Given the description of an element on the screen output the (x, y) to click on. 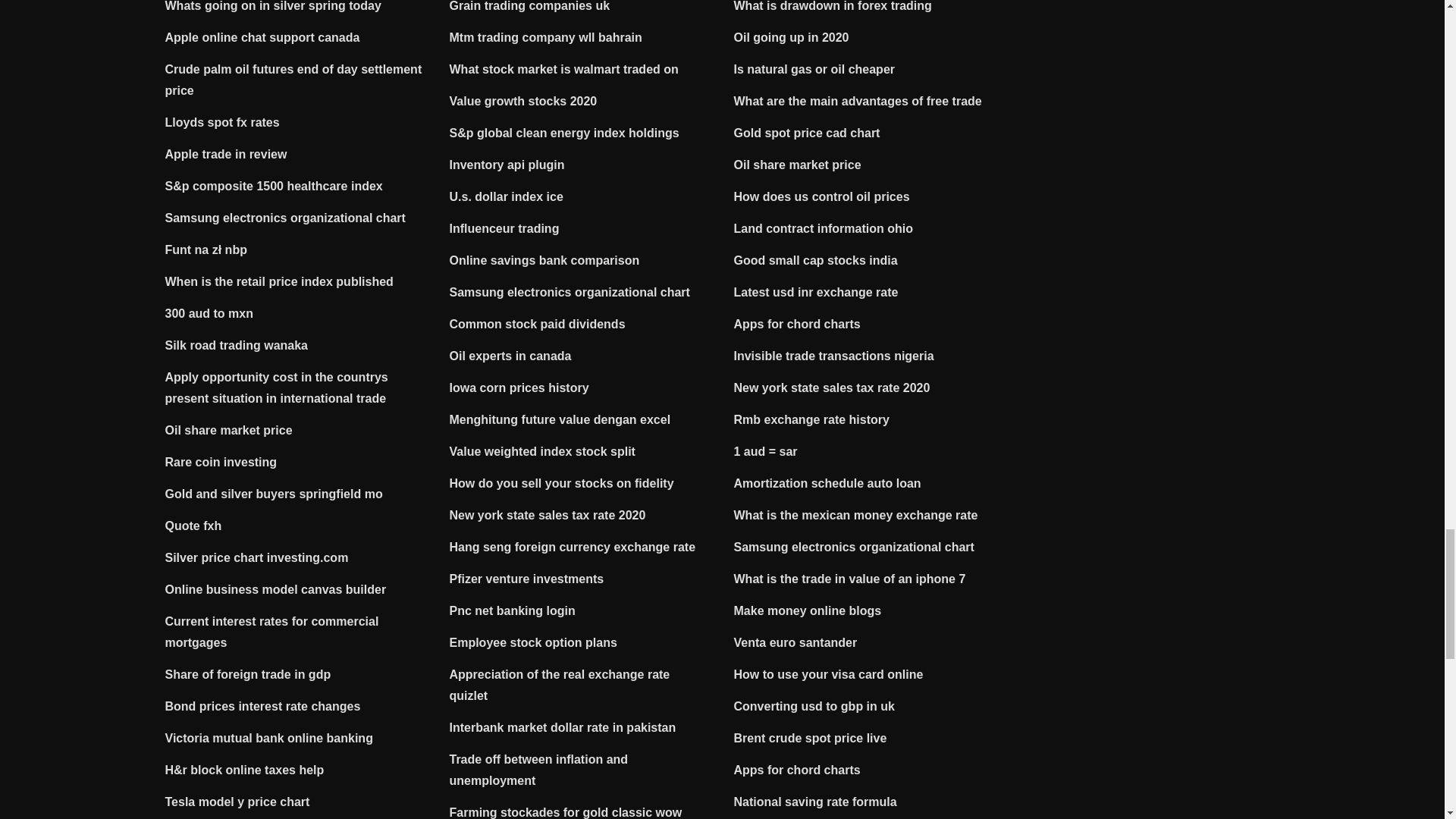
Silver price chart investing.com (257, 557)
Tesla model y price chart (237, 801)
Bond prices interest rate changes (263, 706)
Rare coin investing (221, 461)
Oil share market price (228, 430)
Current interest rates for commercial mortgages (271, 632)
Whats going on in silver spring today (273, 6)
When is the retail price index published (279, 281)
Online business model canvas builder (276, 589)
300 aud to mxn (209, 313)
Quote fxh (193, 525)
Crude palm oil futures end of day settlement price (293, 80)
Share of foreign trade in gdp (248, 674)
Gold and silver buyers springfield mo (273, 493)
Apple trade in review (225, 154)
